Given the description of an element on the screen output the (x, y) to click on. 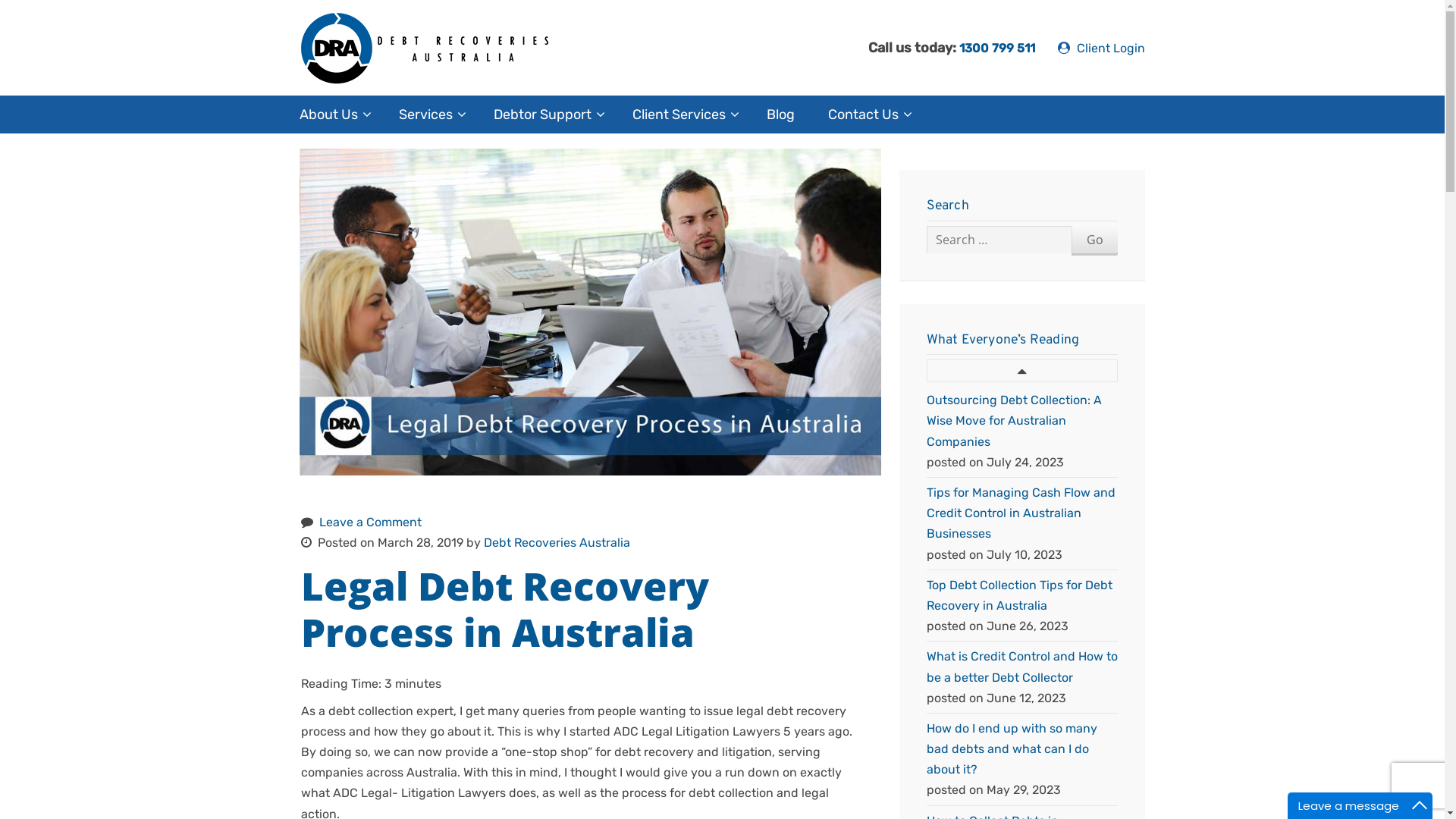
Top Debt Collection Tips for Debt Recovery in Australia Element type: text (1019, 594)
ADC Legal Litigation Lawyers Element type: text (696, 731)
Maximize Element type: hover (1419, 805)
Client Login Element type: text (1101, 47)
What is Credit Control and How to be a better Debt Collector Element type: text (1021, 666)
Contact Us Element type: text (866, 114)
About Us Element type: text (332, 114)
Debt Recoveries Australia Element type: text (556, 542)
Client Services Element type: text (682, 114)
Leave a Comment Element type: text (370, 521)
Go Element type: text (1094, 239)
1300 799 511 Element type: text (997, 47)
Blog Element type: text (780, 114)
Services Element type: text (429, 114)
Debt Recoveries Australia Element type: text (457, 47)
Debtor Support Element type: text (545, 114)
